Given the description of an element on the screen output the (x, y) to click on. 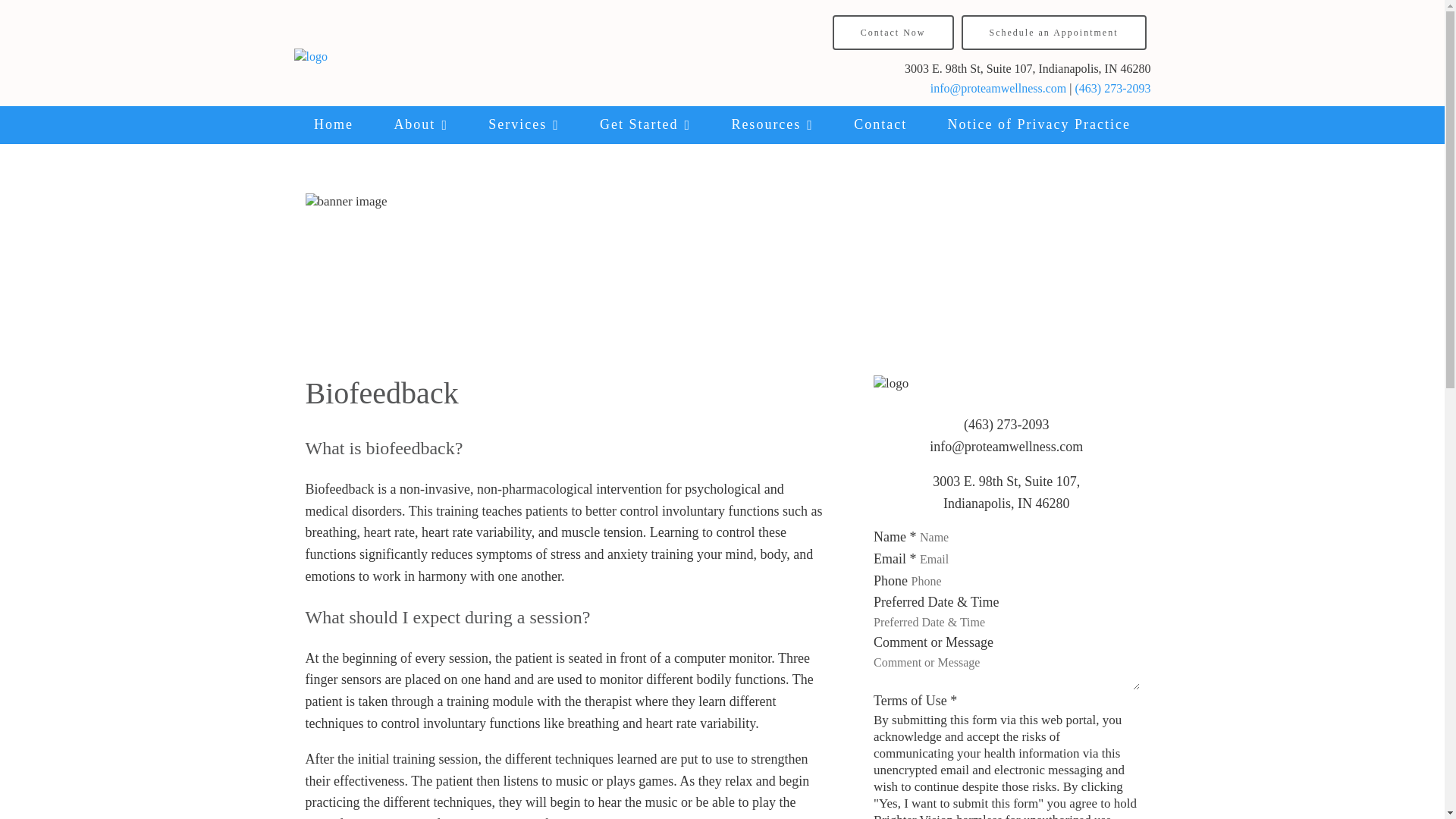
Resources (772, 125)
Services (523, 125)
Get Started (644, 125)
Home (333, 125)
Schedule an Appointment (1053, 32)
Contact (880, 125)
About (421, 125)
Contact Now (892, 32)
Notice of Privacy Practice (1039, 125)
